Given the description of an element on the screen output the (x, y) to click on. 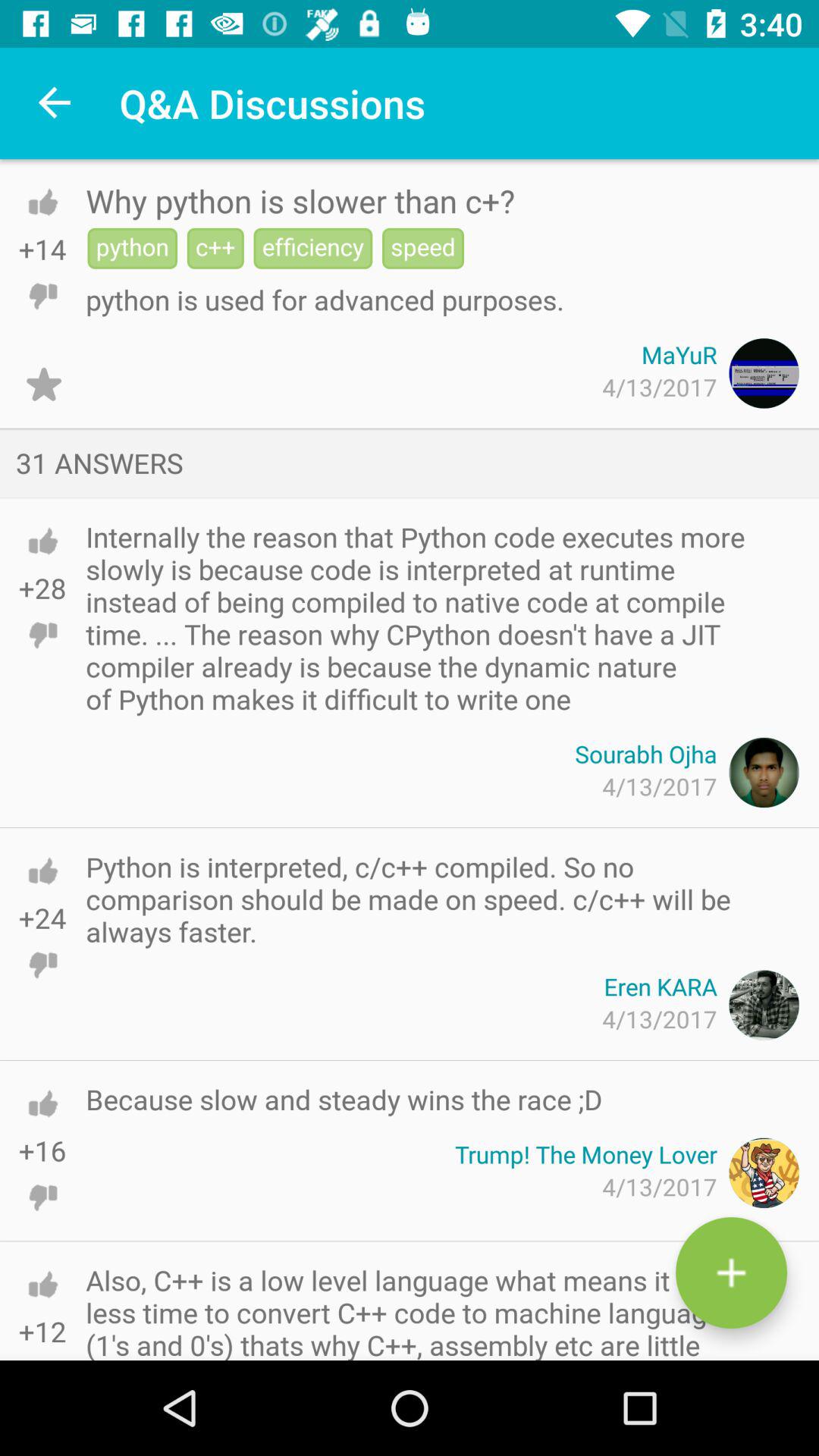
like (42, 202)
